Given the description of an element on the screen output the (x, y) to click on. 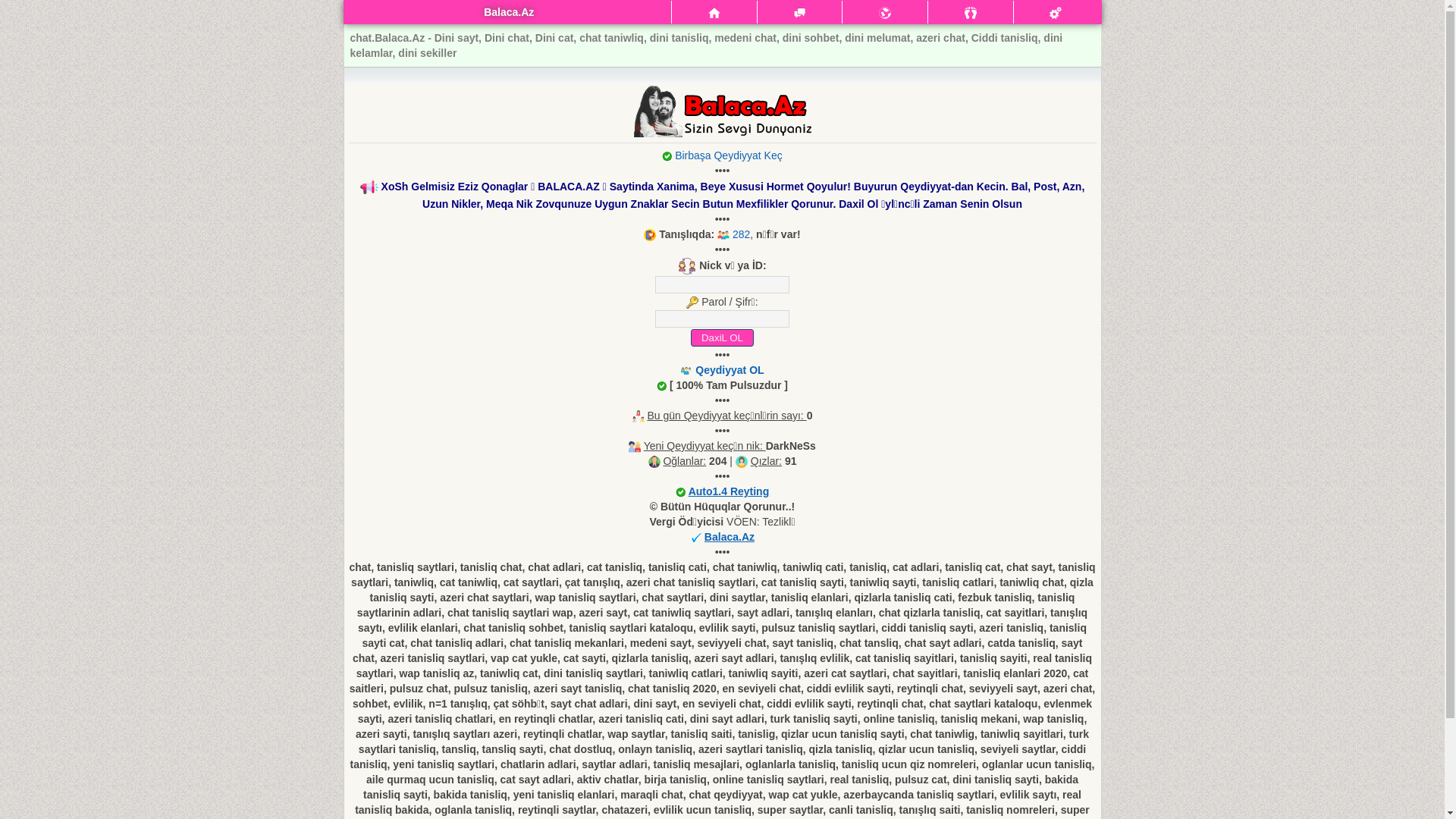
Qeydiyyat OL Element type: text (729, 370)
Qonaqlar Element type: hover (970, 12)
Ana Sehife Element type: hover (714, 12)
Balaca.Az Element type: text (729, 536)
Mesajlar Element type: hover (713, 11)
Mesajlar Element type: hover (799, 11)
Qonaqlar Element type: hover (970, 11)
DaxiL OL Element type: text (722, 337)
282 Element type: text (733, 234)
Bildirisler Element type: hover (884, 11)
Parol Element type: hover (722, 318)
Bildirisler Element type: hover (884, 12)
nick Element type: hover (722, 284)
Mesajlar Element type: hover (799, 12)
Auto1.4 Reyting Element type: text (728, 491)
